Given the description of an element on the screen output the (x, y) to click on. 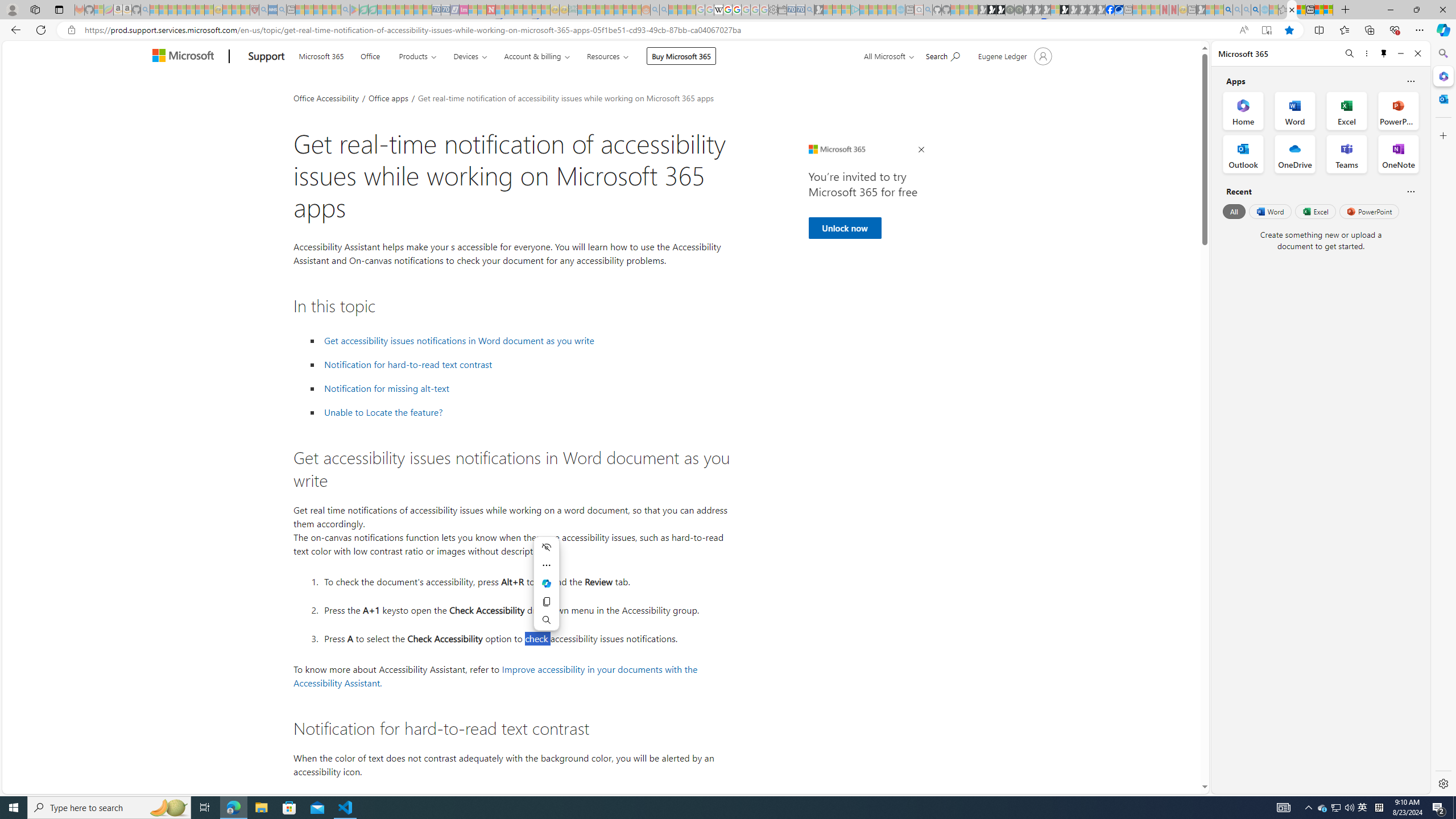
PowerPoint (1369, 210)
